Given the description of an element on the screen output the (x, y) to click on. 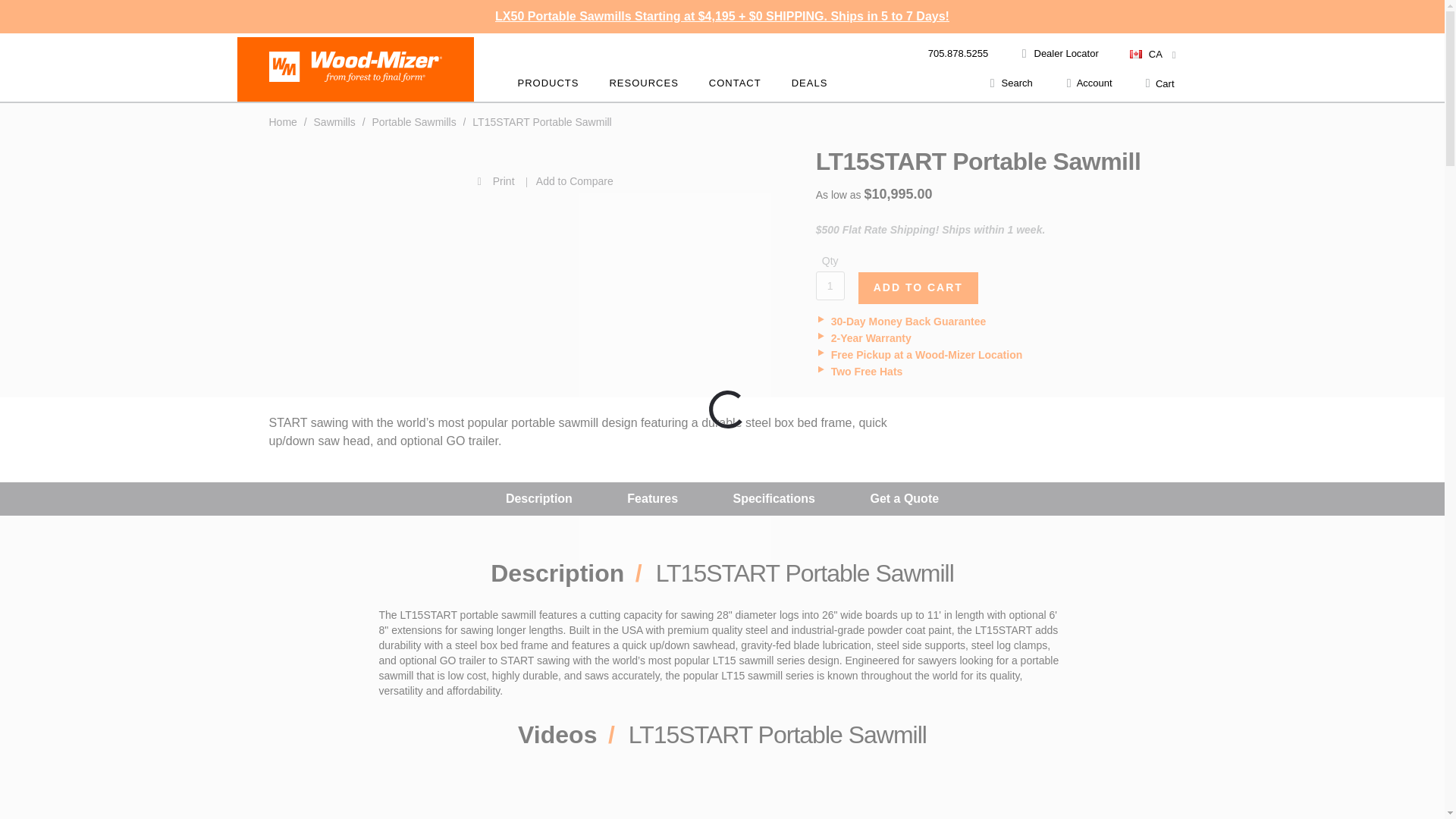
Add to Cart (918, 287)
Qty (829, 285)
Print (394, 181)
Go to Home Page (283, 121)
1 (829, 285)
